Given the description of an element on the screen output the (x, y) to click on. 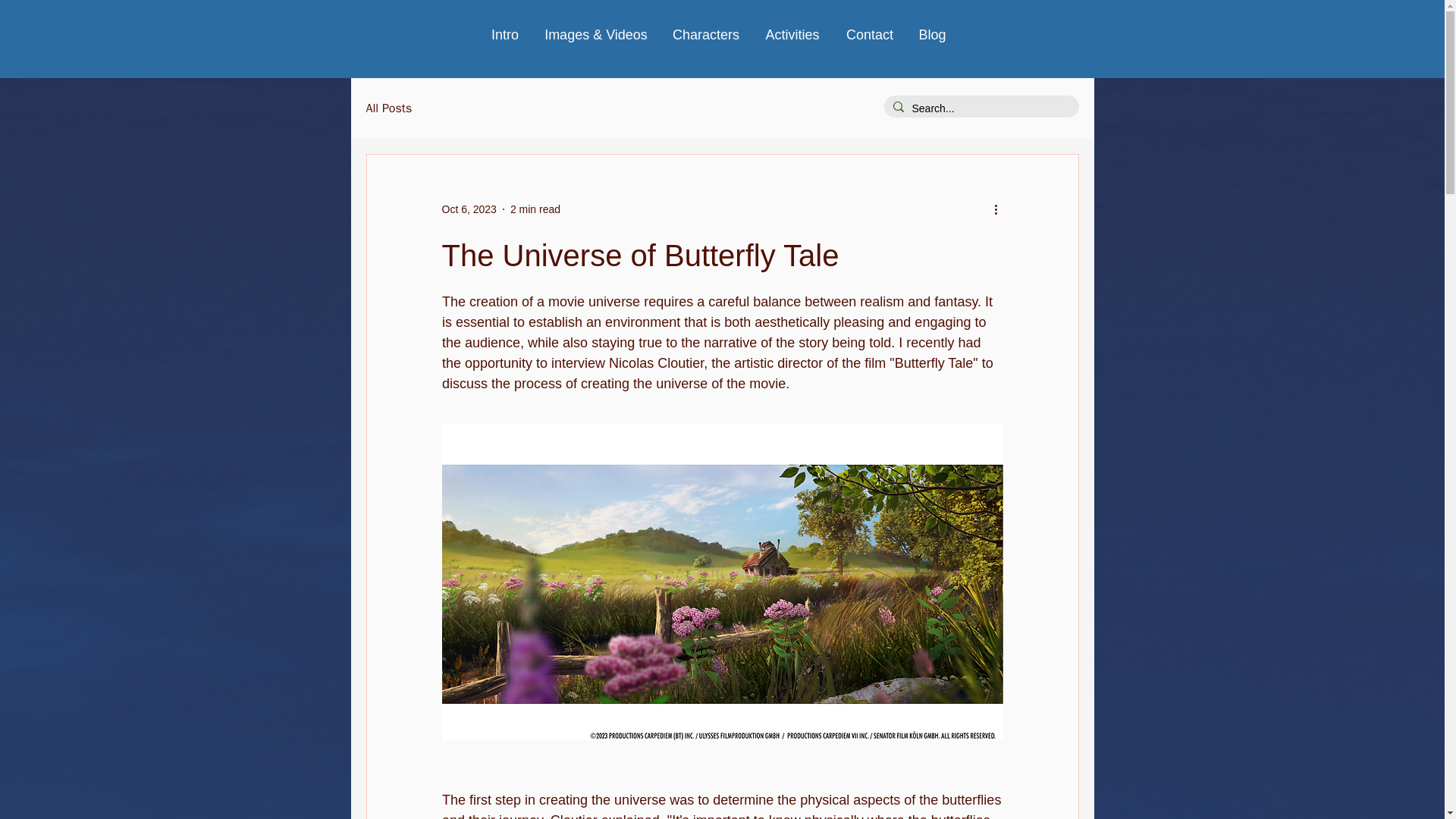
Blog (931, 35)
All Posts (388, 107)
Characters (706, 35)
Intro (505, 35)
Oct 6, 2023 (468, 209)
Activities (791, 35)
2 min read (535, 209)
Contact (868, 35)
